Given the description of an element on the screen output the (x, y) to click on. 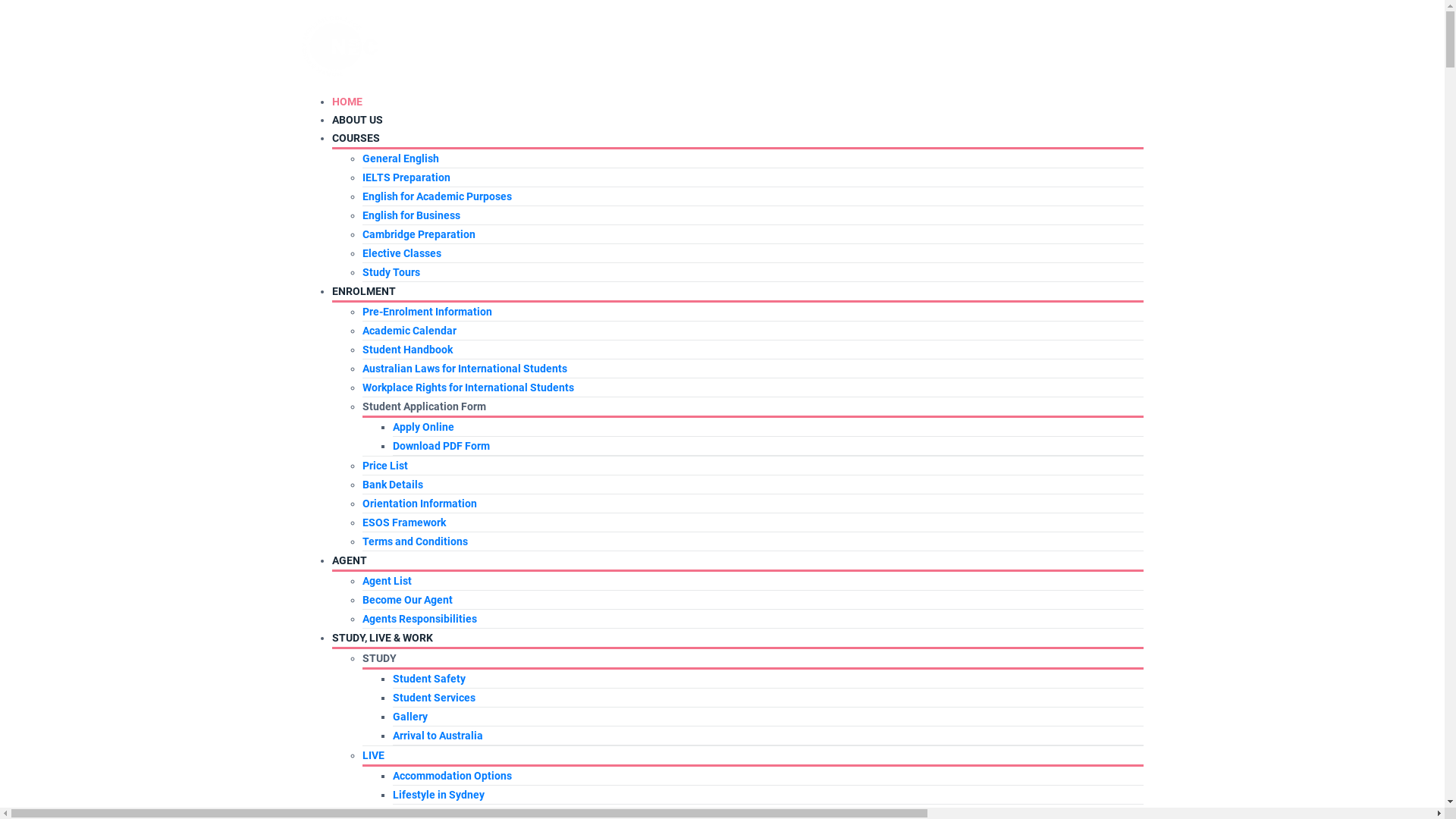
Orientation Information Element type: text (419, 503)
Apply Online Element type: text (423, 426)
Student Services Element type: text (433, 697)
Pre-Enrolment Information Element type: text (427, 311)
COURSES Element type: text (355, 137)
ENROLMENT Element type: text (363, 291)
English for Academic Purposes Element type: text (436, 196)
AGENT Element type: text (349, 560)
STUDY Element type: text (379, 658)
Elective Classes Element type: text (401, 253)
IELTS Preparation Element type: text (406, 177)
English for Business Element type: text (411, 215)
Student Handbook Element type: text (407, 349)
STUDY, LIVE & WORK Element type: text (382, 637)
Become Our Agent Element type: text (407, 599)
Student Safety Element type: text (428, 678)
LIVE Element type: text (373, 755)
North Sydney College Element type: hover (339, 45)
ABOUT US Element type: text (357, 119)
Terms and Conditions Element type: text (414, 541)
General English Element type: text (400, 158)
Student Application Form Element type: text (424, 406)
Price List Element type: text (384, 465)
Australian Laws for International Students Element type: text (464, 368)
Workplace Rights for International Students Element type: text (468, 387)
ESOS Framework Element type: text (403, 522)
Accommodation Options Element type: text (451, 775)
Study Tours Element type: text (391, 272)
Agents Responsibilities Element type: text (419, 618)
HOME Element type: text (347, 101)
Bank Details Element type: text (392, 484)
Academic Calendar Element type: text (409, 330)
Cambridge Preparation Element type: text (418, 234)
Arrival to Australia Element type: text (437, 735)
Agent List Element type: text (386, 580)
Lifestyle in Sydney Element type: text (438, 794)
Download PDF Form Element type: text (440, 445)
Gallery Element type: text (409, 716)
